Given the description of an element on the screen output the (x, y) to click on. 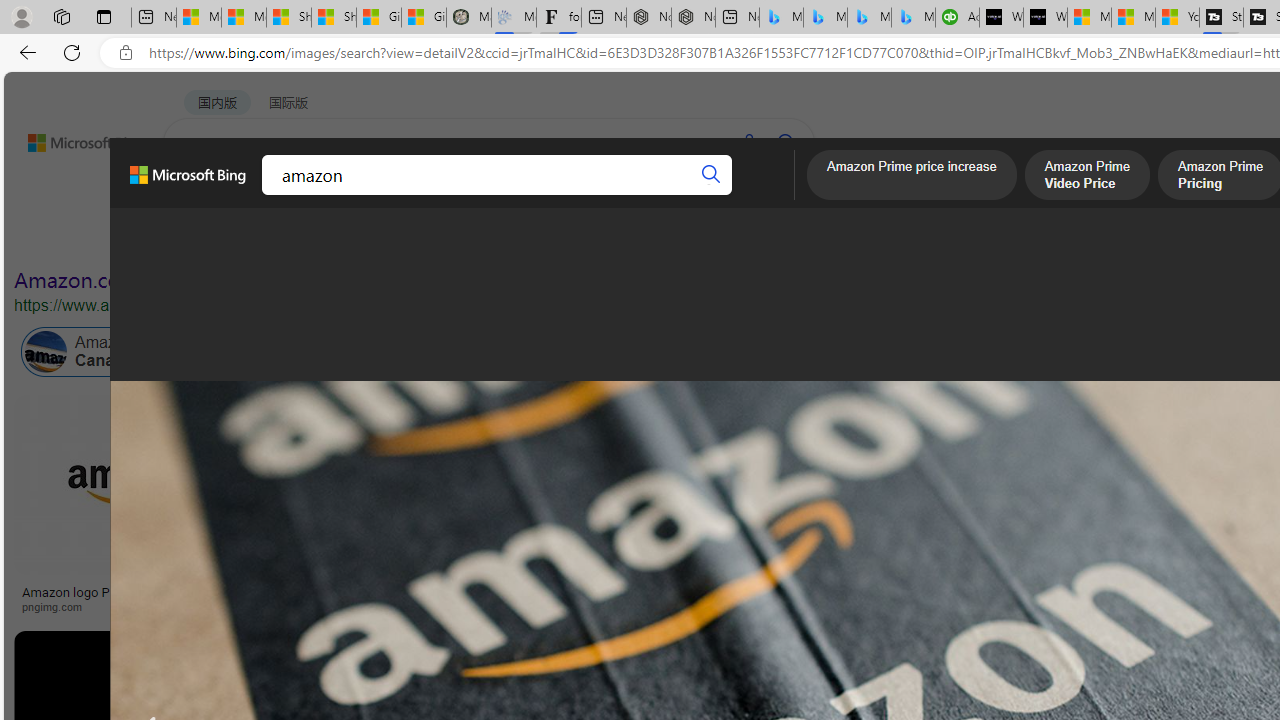
Nordace - #1 Japanese Best-Seller - Siena Smart Backpack (693, 17)
Search button (712, 174)
Amazon Cloud (564, 351)
Listen: What's next for Amazon? (710, 592)
Amazon Prime price increase (911, 177)
Image size (221, 237)
IMAGES (274, 196)
Amazon Animals (706, 351)
Class: item col (893, 351)
Type (373, 237)
WEB (201, 195)
Amazon Cloud (606, 351)
License (664, 237)
Amazon Prime Online (303, 351)
